Given the description of an element on the screen output the (x, y) to click on. 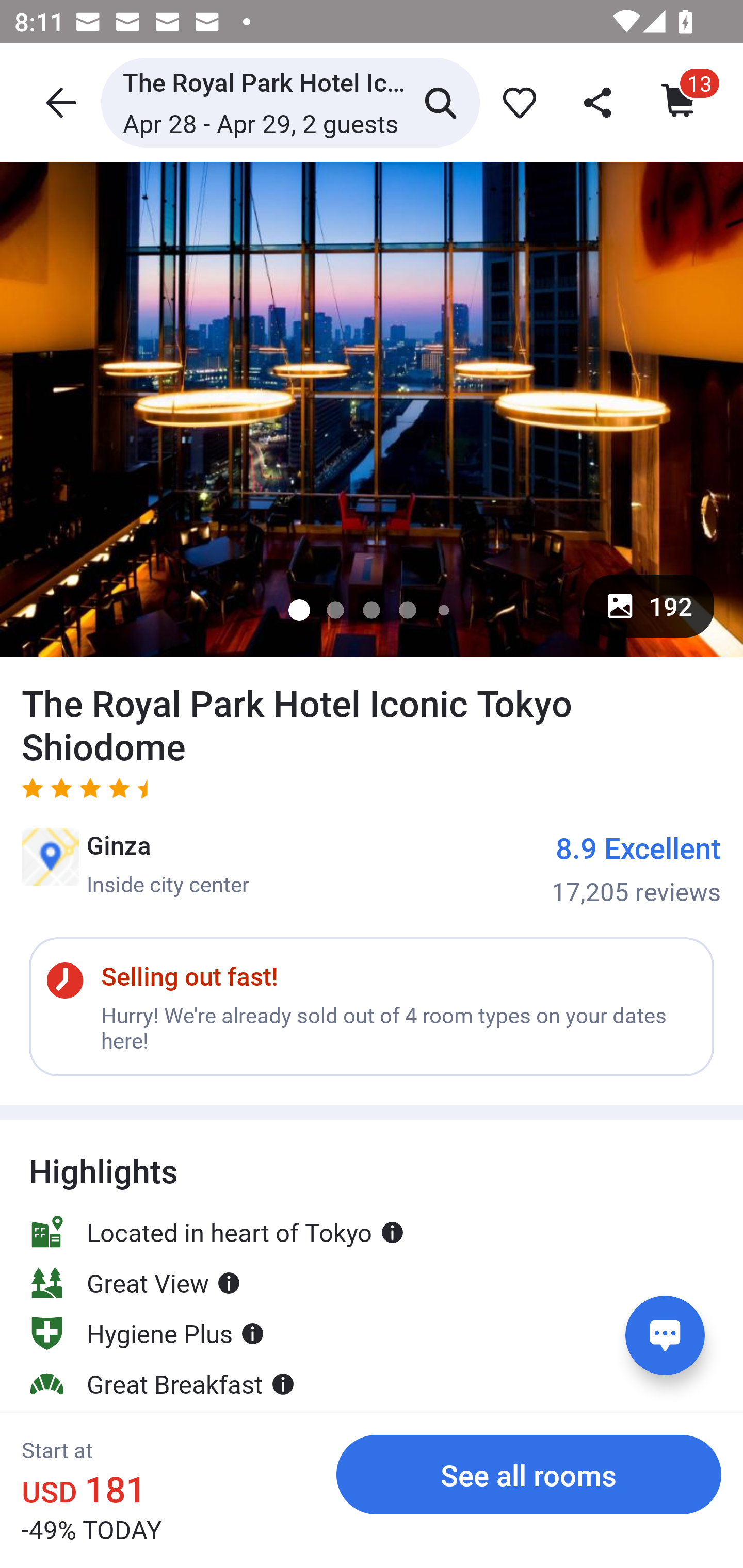
header icon (59, 102)
favorite_icon 0dbe6efb (515, 102)
share_header_icon (598, 102)
Cart icon cart_item_count 13 (679, 102)
image (371, 408)
192 (648, 605)
Ginza Inside city center (134, 863)
8.9 Excellent 17,205 reviews (636, 867)
Located in heart of Tokyo (216, 1231)
Great View (134, 1264)
Hygiene Plus (146, 1315)
Great Breakfast (161, 1365)
See all rooms (528, 1474)
